Given the description of an element on the screen output the (x, y) to click on. 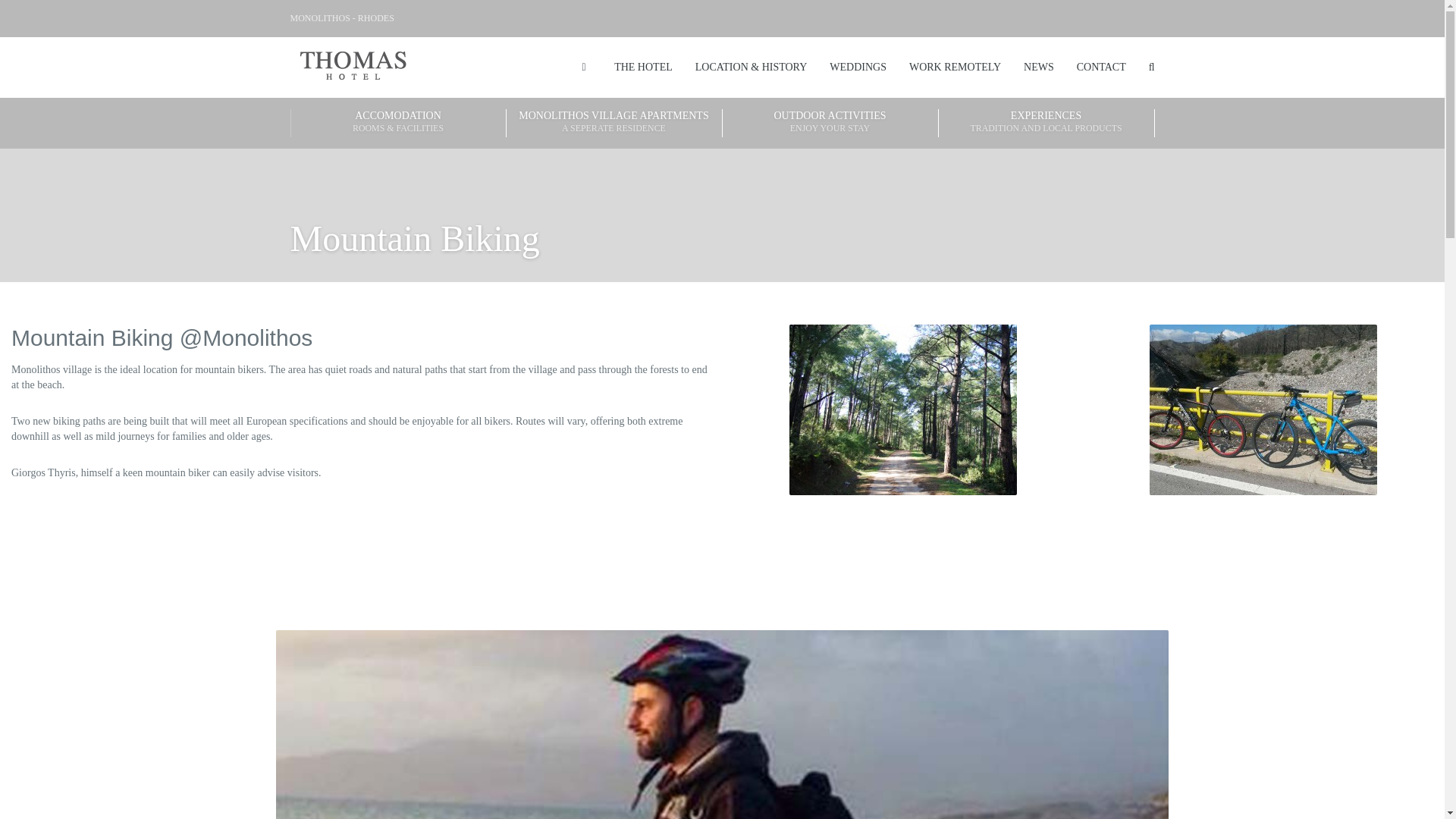
26 (902, 409)
biking-4 (829, 122)
WEDDINGS (614, 122)
THE HOTEL (1263, 409)
WORK REMOTELY (857, 66)
